Given the description of an element on the screen output the (x, y) to click on. 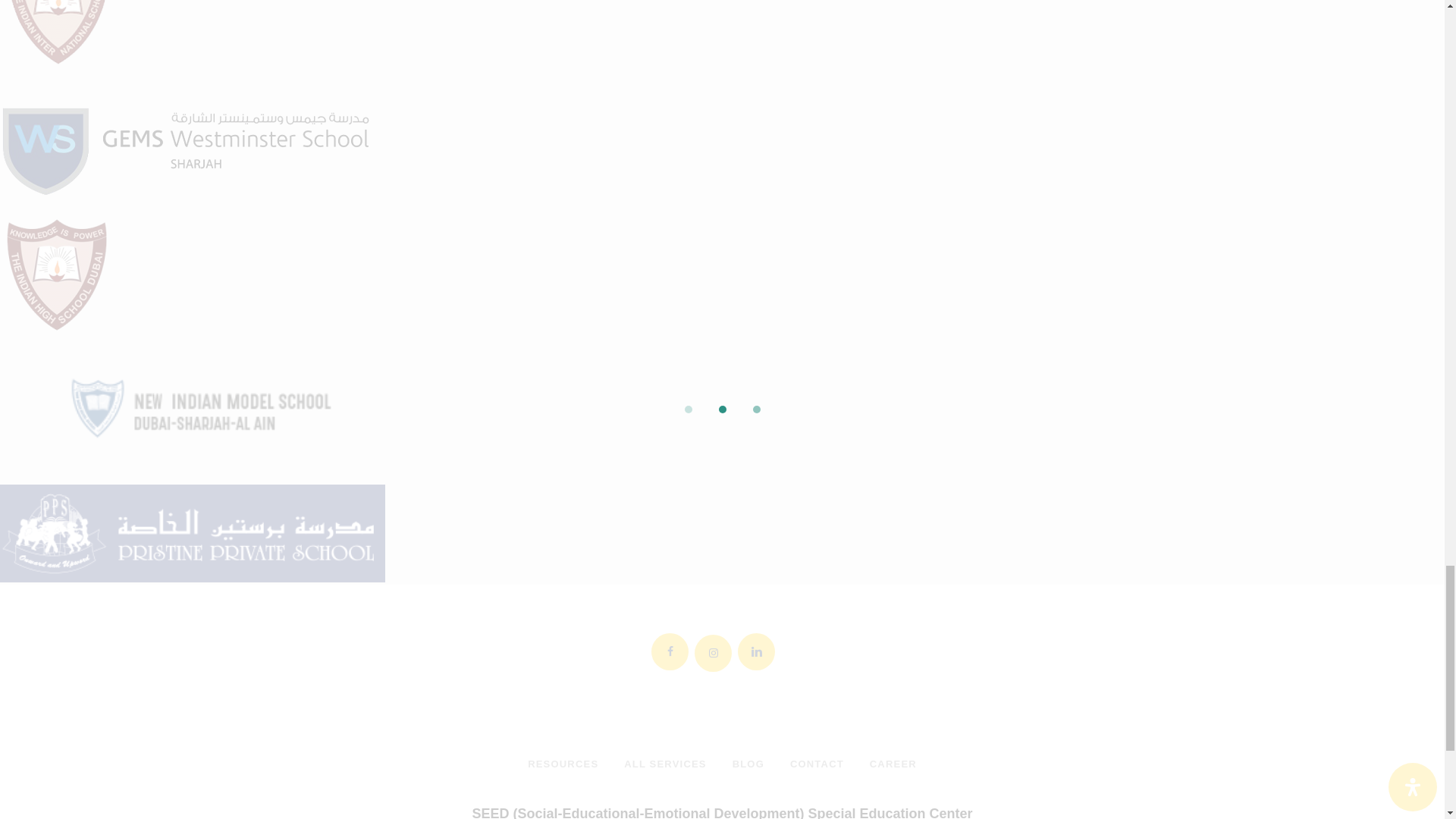
Indian international school (56, 32)
Indian high school (56, 274)
Gems west minister school (189, 141)
